Given the description of an element on the screen output the (x, y) to click on. 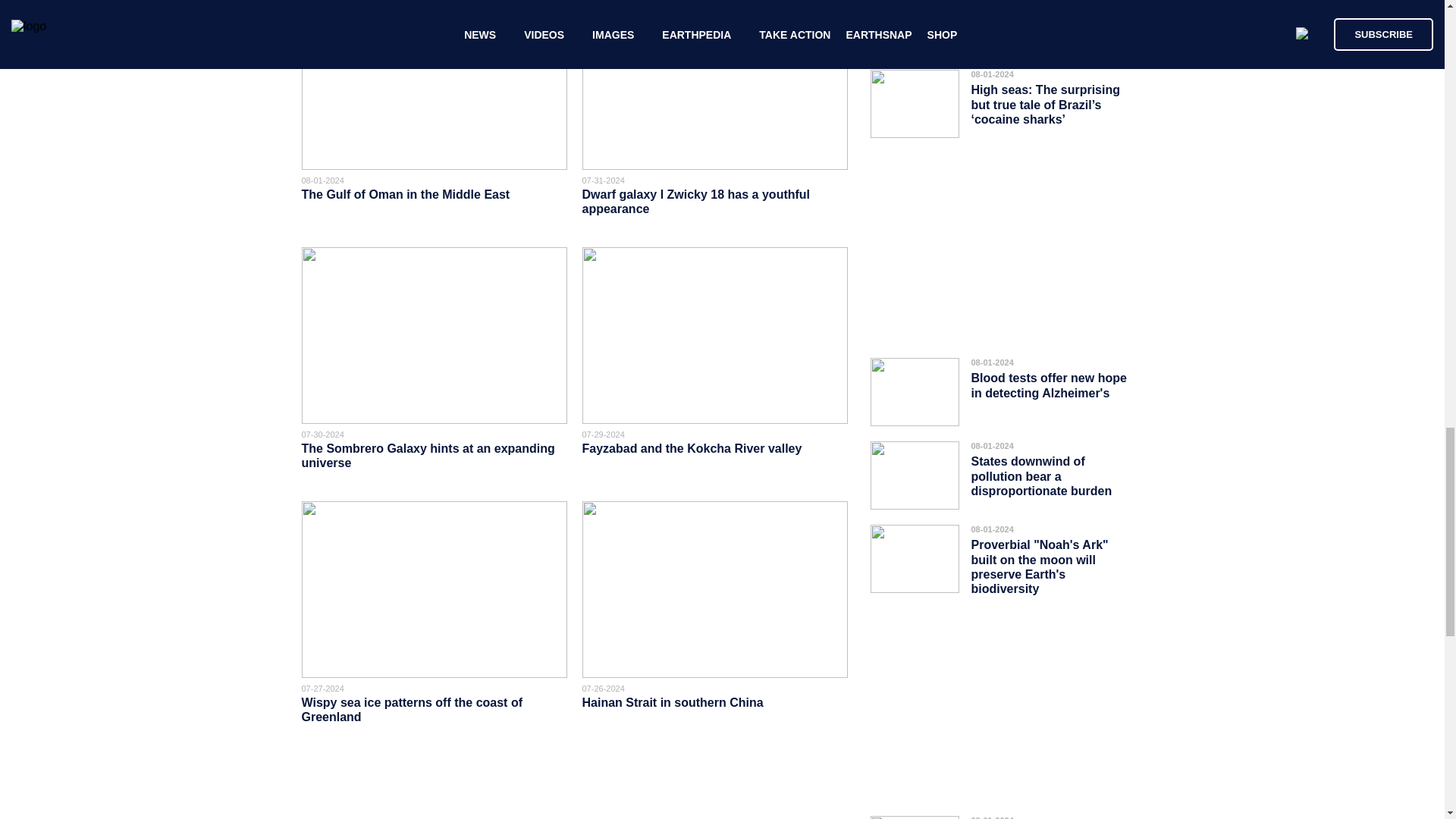
Dwarf galaxy I Zwicky 18 has a youthful appearance (696, 201)
The Sombrero Galaxy hints at an expanding universe  (427, 455)
Fayzabad and the Kokcha River valley  (693, 448)
Hainan Strait in southern China (672, 702)
Wispy sea ice patterns off the coast of Greenland (411, 709)
The Gulf of Oman in the Middle East (406, 194)
